Given the description of an element on the screen output the (x, y) to click on. 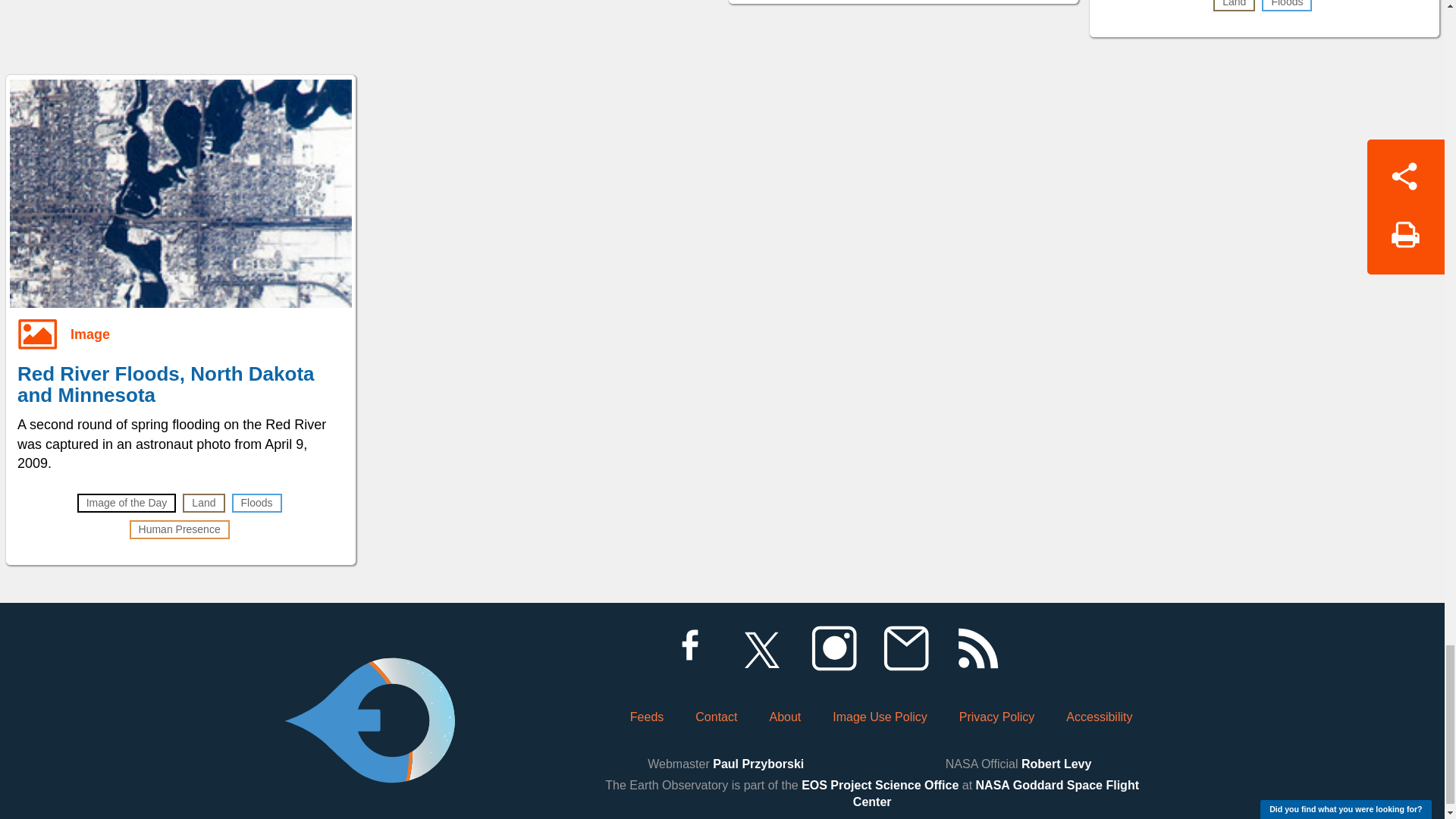
Facebook (689, 648)
Subscribe (905, 648)
Twitter (761, 648)
RSS (977, 648)
Earth Observatory (369, 678)
Instagram (833, 648)
